Given the description of an element on the screen output the (x, y) to click on. 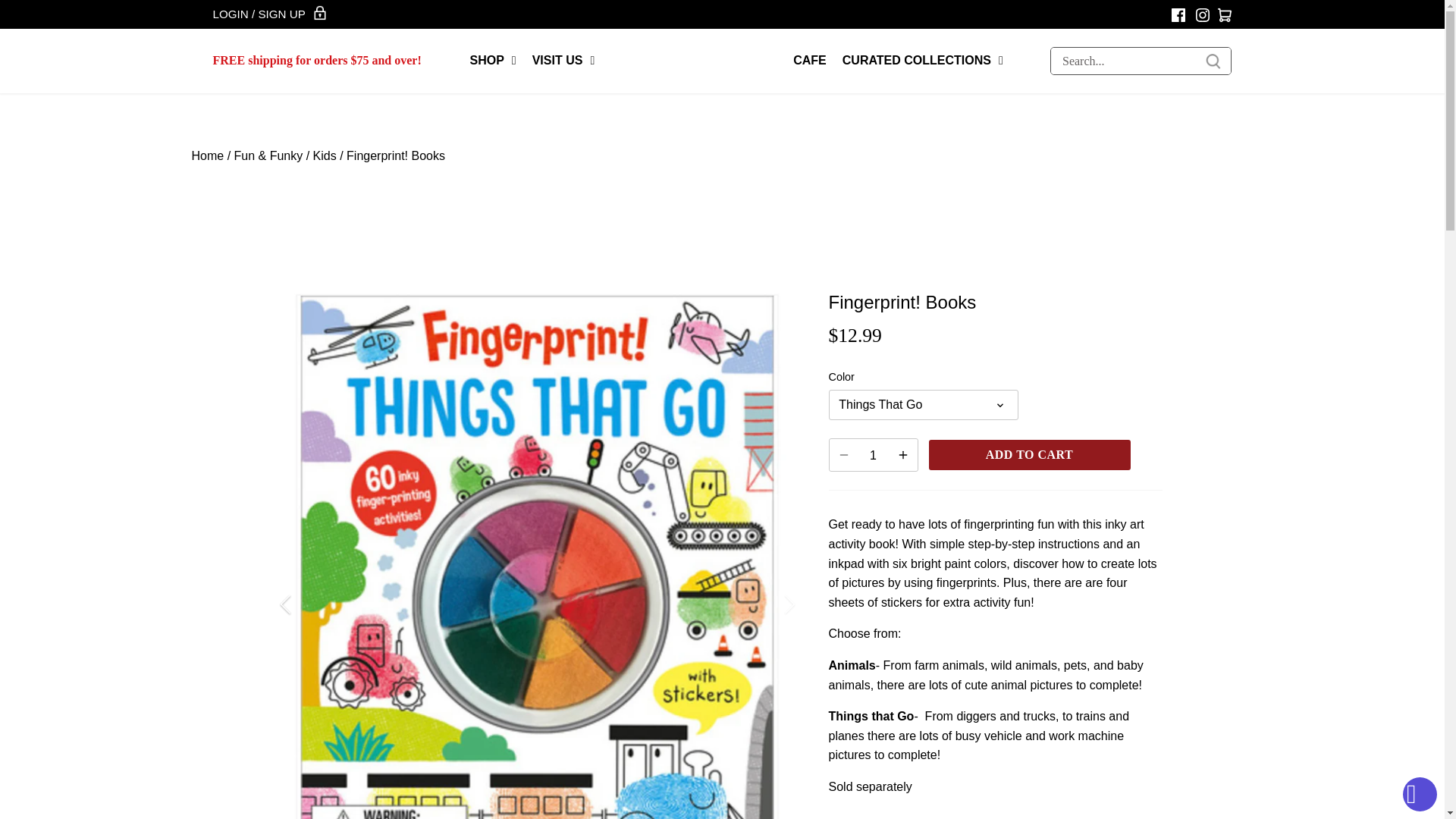
Facebook (1178, 15)
LOGIN (229, 13)
Instagram (1201, 15)
SHOP (493, 60)
1 (873, 454)
SIGN UP (280, 13)
SHOP (493, 60)
